Given the description of an element on the screen output the (x, y) to click on. 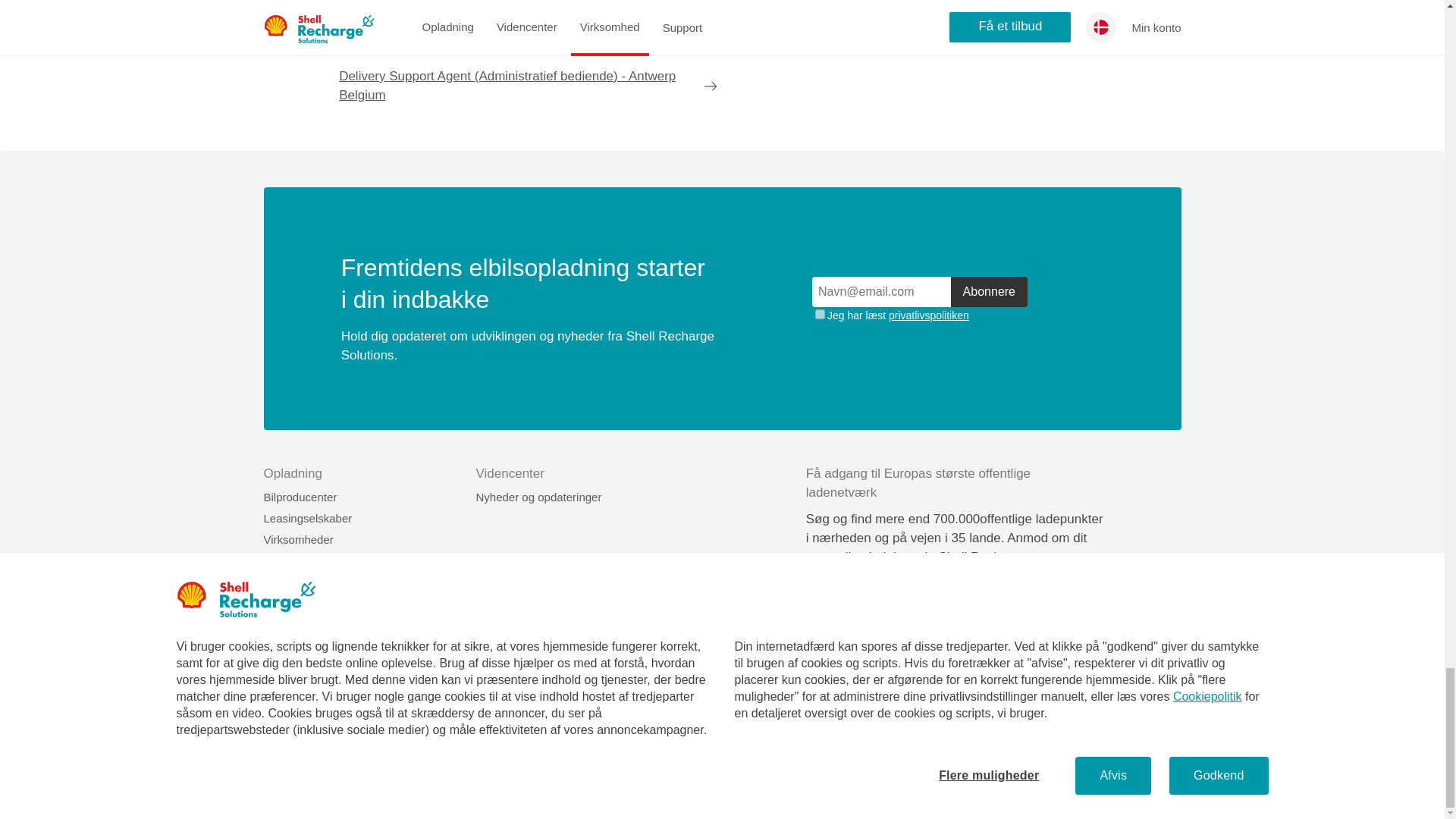
Fremtidens elbilsopladning starter i din indbakke (919, 308)
